Given the description of an element on the screen output the (x, y) to click on. 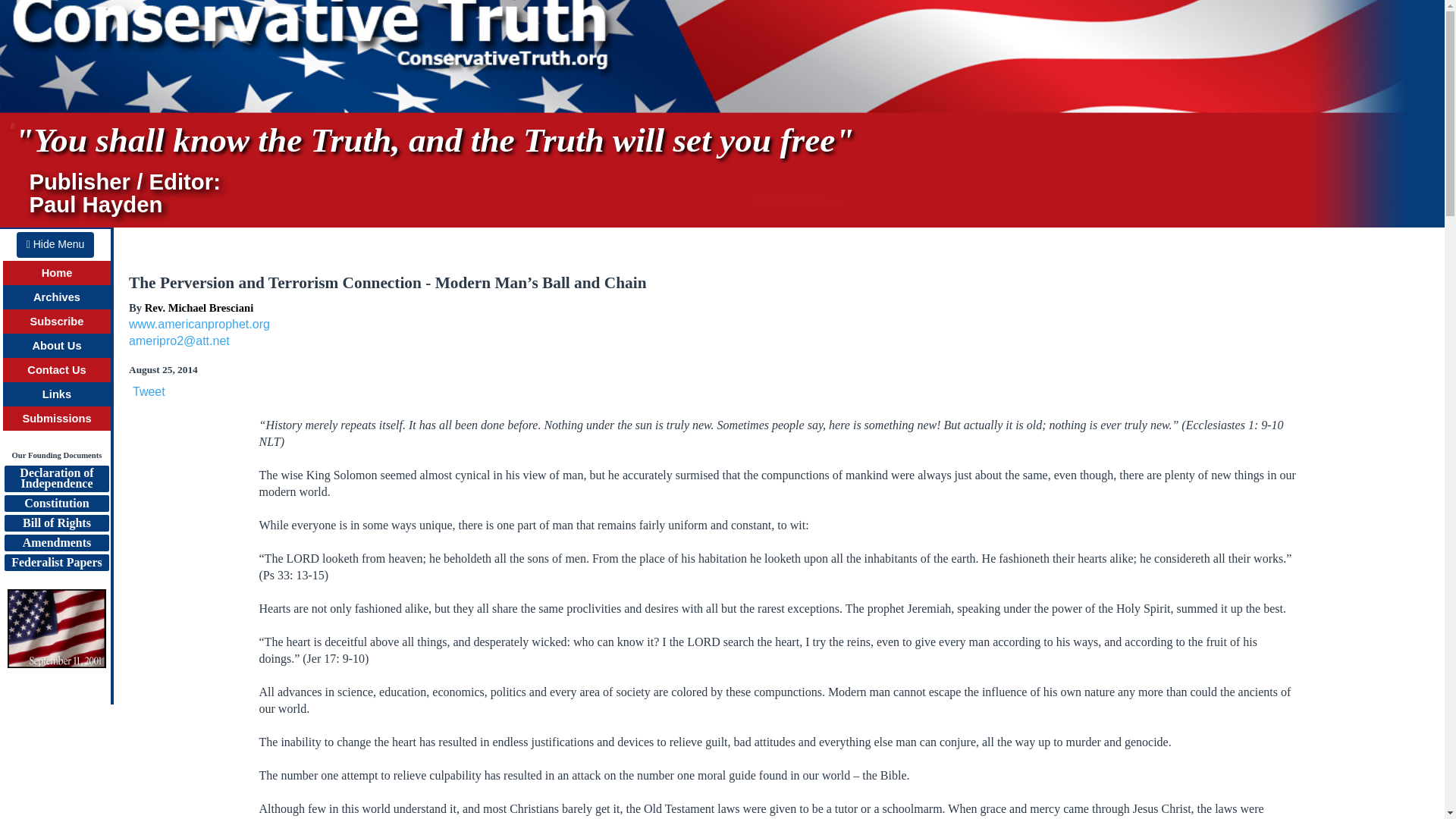
Bill of Rights (56, 523)
Hide Menu (55, 244)
Amendments (56, 542)
Contact Us (56, 479)
Federalist Papers (56, 369)
Submissions (56, 562)
Archives (55, 418)
Subscribe (56, 297)
Rev. Michael Bresciani (57, 321)
